Given the description of an element on the screen output the (x, y) to click on. 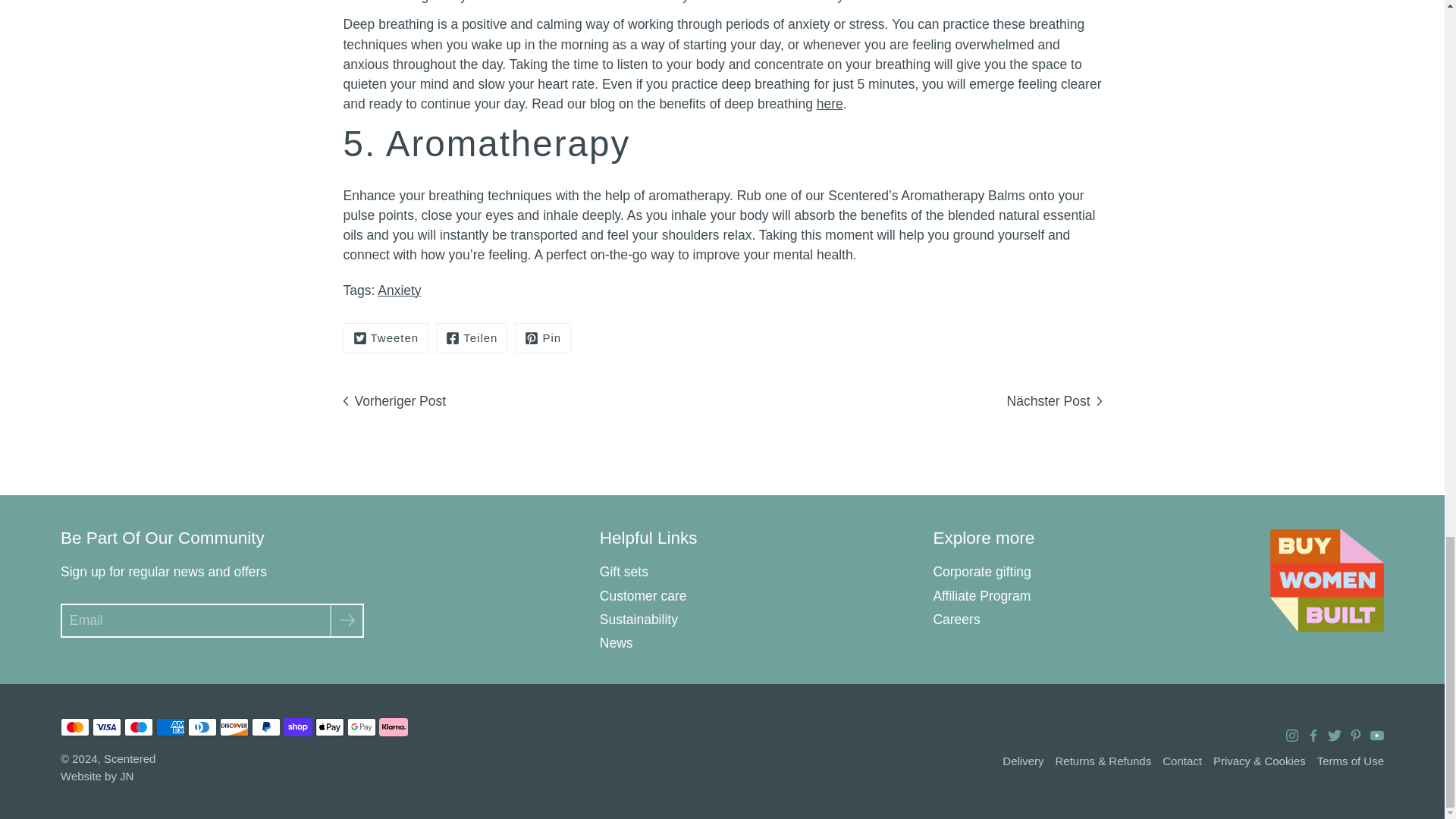
Facebook (470, 337)
Mastercard (74, 727)
Maestro (137, 727)
Twitter (385, 337)
Pinterest (542, 337)
Visa (106, 727)
